Given the description of an element on the screen output the (x, y) to click on. 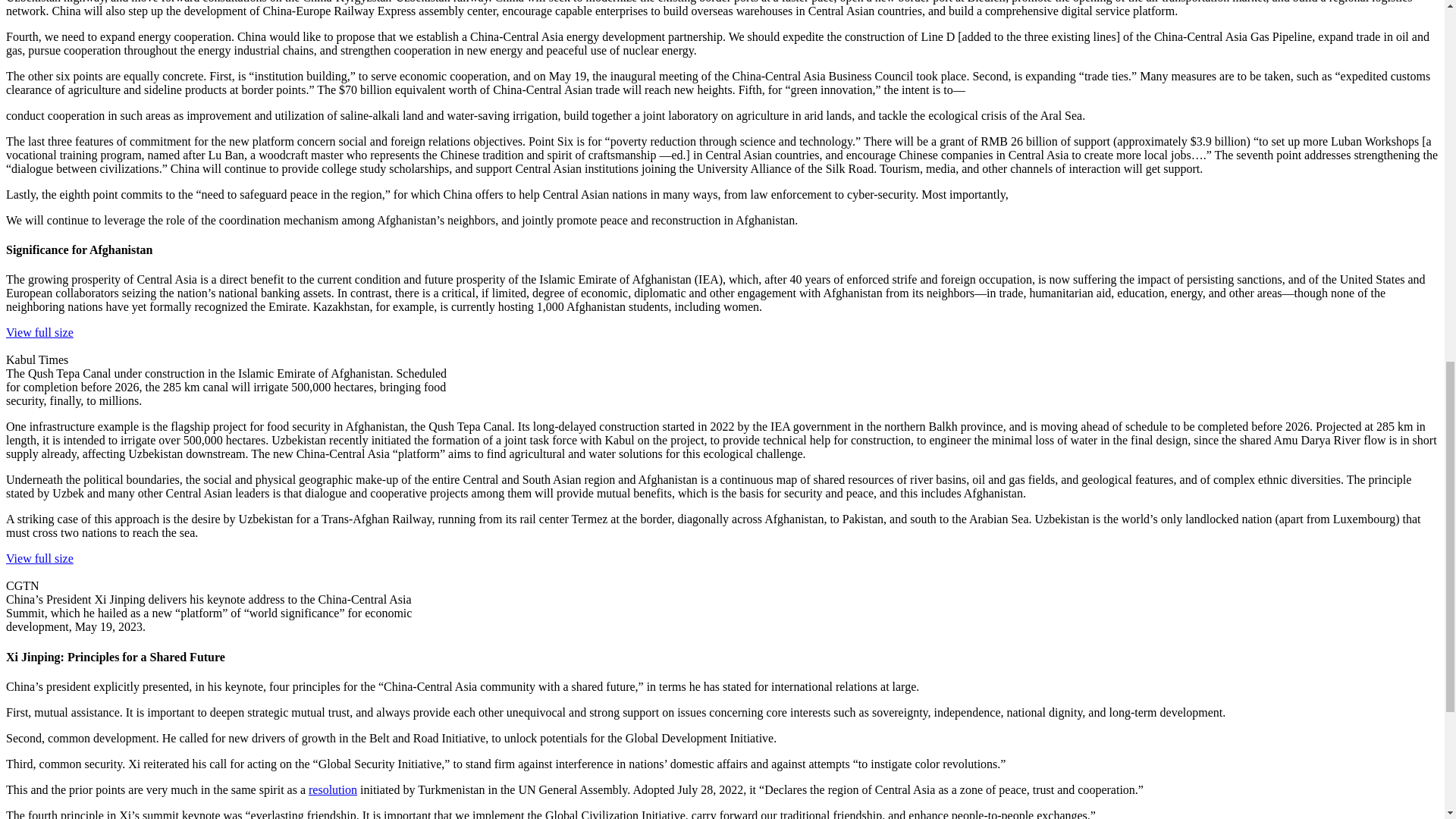
resolution (332, 789)
View full size (39, 338)
View full size (39, 565)
